Given the description of an element on the screen output the (x, y) to click on. 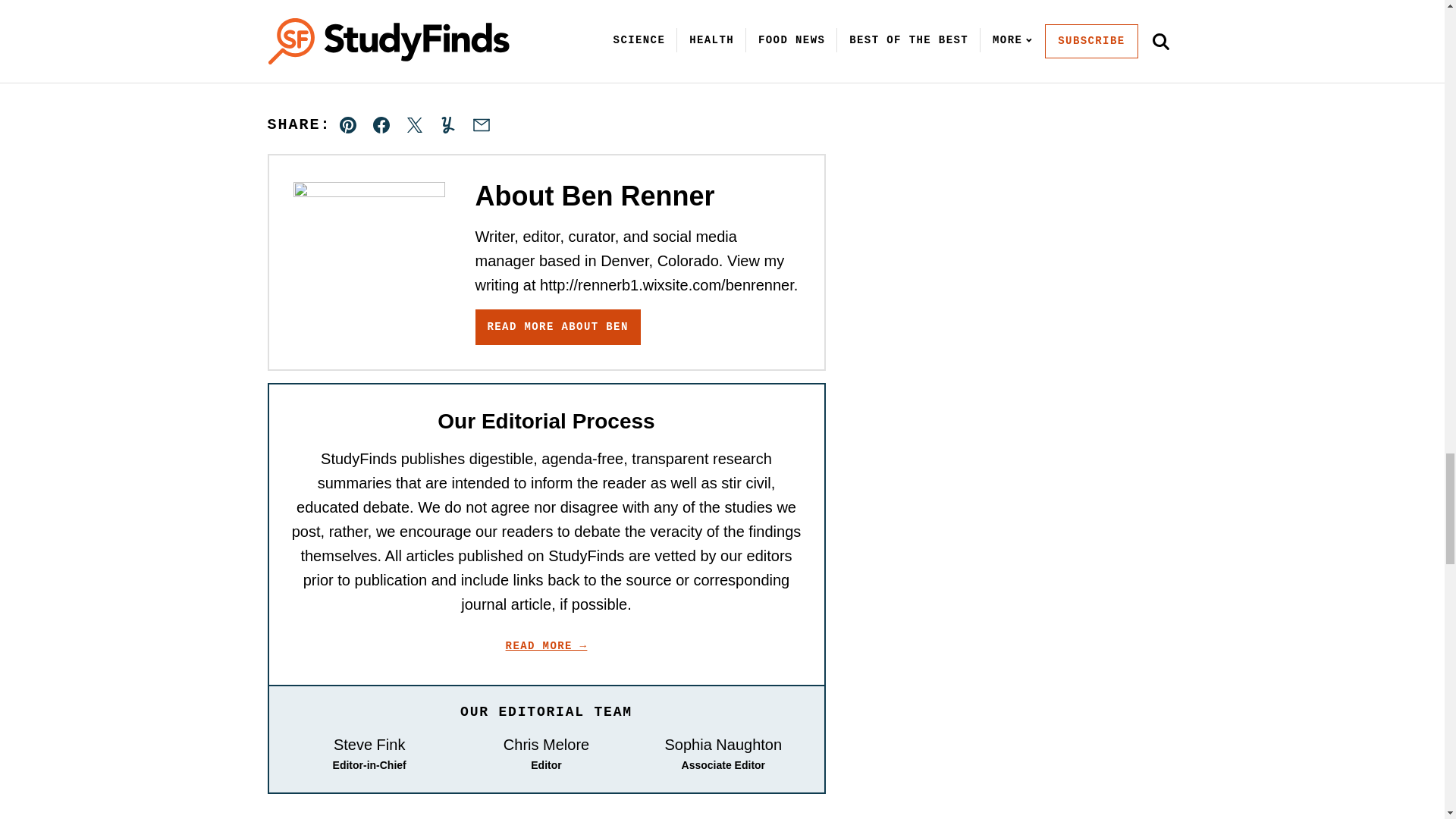
Share via Email (480, 124)
Share on Facebook (381, 124)
Share on Pinterest (348, 124)
Share on Twitter (413, 124)
Share on Yummly (447, 124)
